Given the description of an element on the screen output the (x, y) to click on. 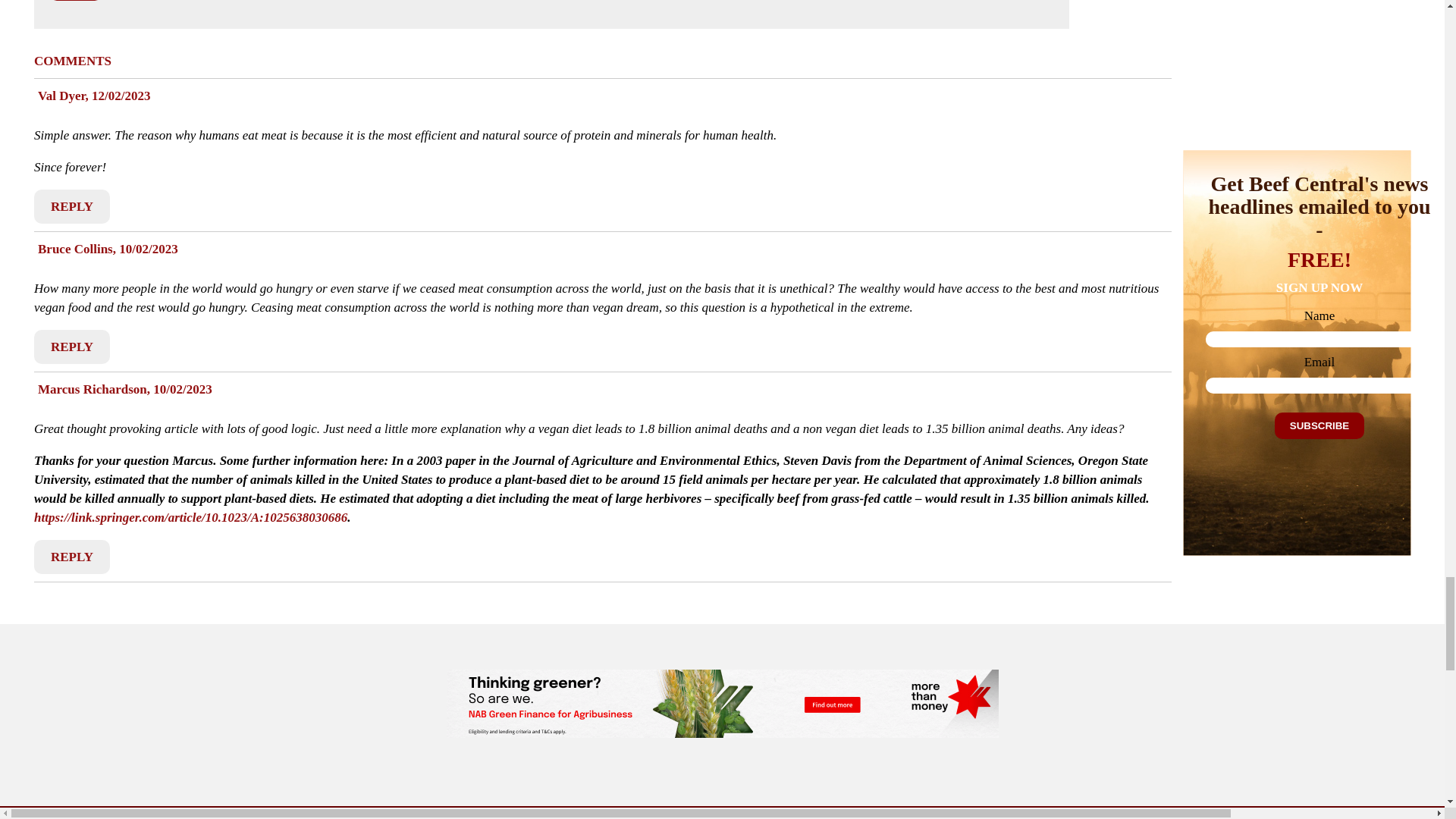
SUBMIT (75, 0)
3rd party ad content (721, 703)
